Given the description of an element on the screen output the (x, y) to click on. 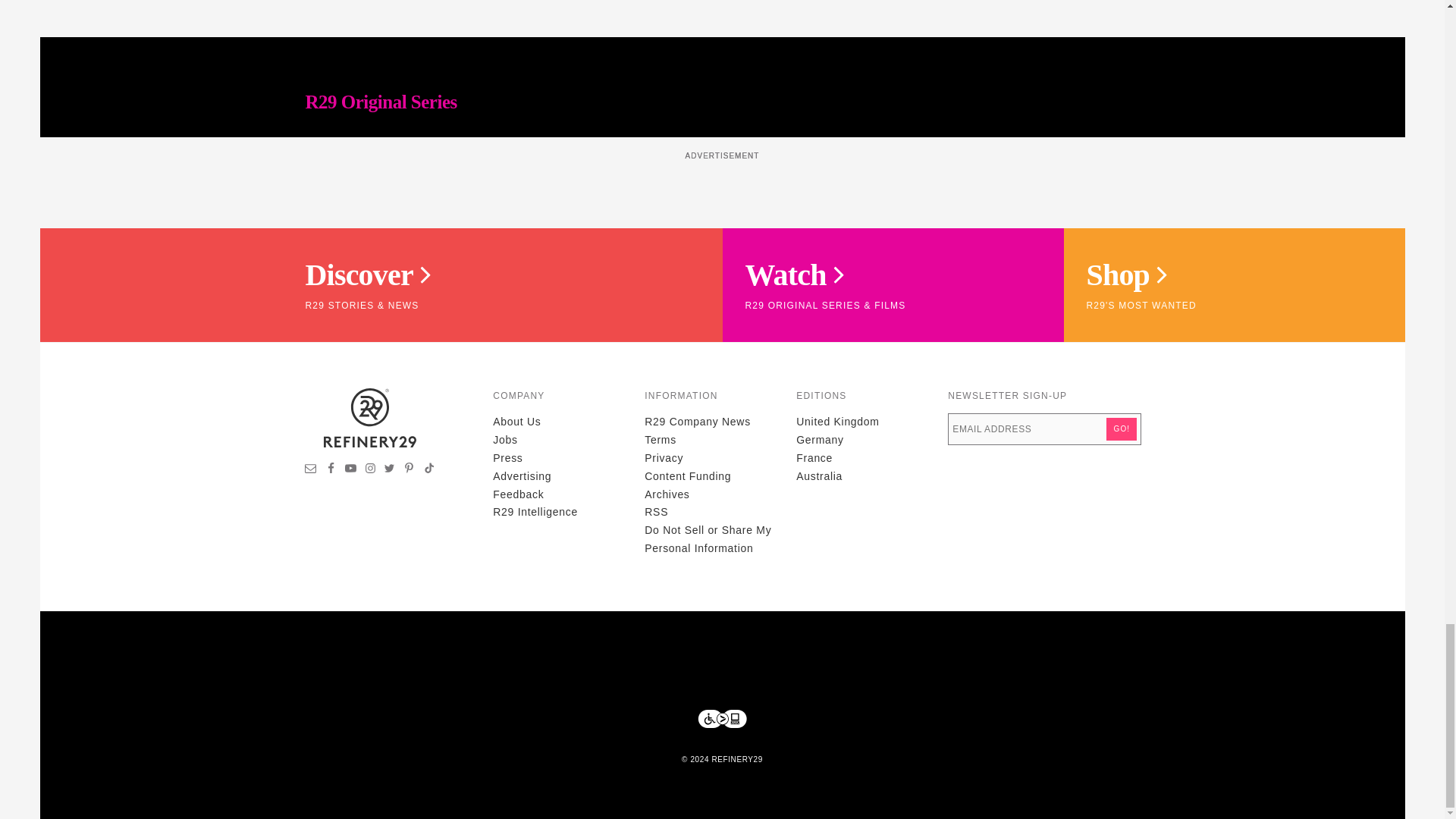
Visit Refinery29 on TikTok (428, 469)
Visit Refinery29 on YouTube (350, 469)
Sign up for newsletters (310, 469)
